Given the description of an element on the screen output the (x, y) to click on. 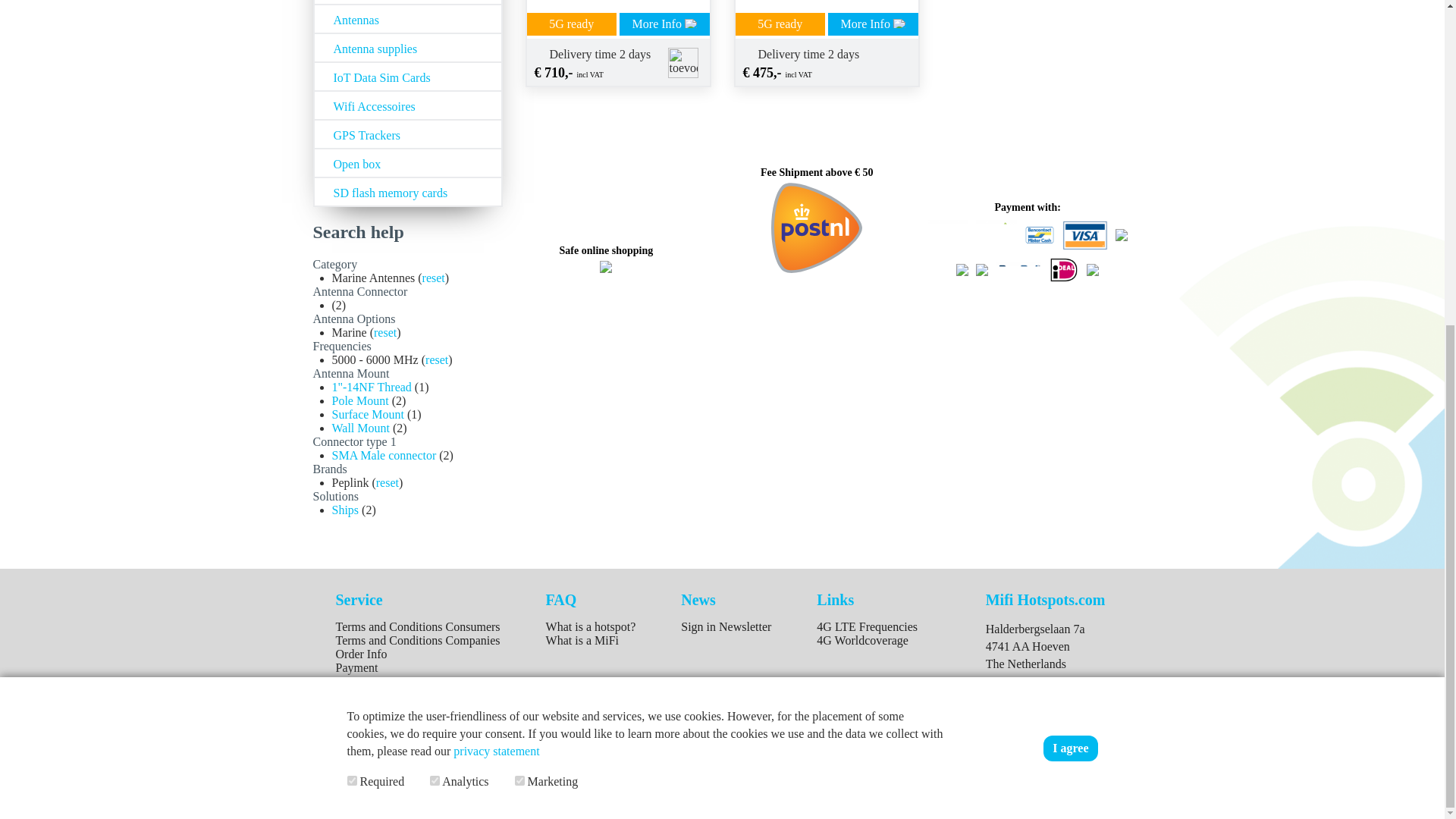
reset (436, 359)
Gateways (407, 2)
reset (433, 277)
Open box (407, 163)
GPS Trackers (407, 133)
Antenna supplies (407, 47)
IoT Data Sim Cards (407, 76)
on (519, 247)
SD flash memory cards (407, 191)
on (434, 247)
toevoegen aan winkelwagen (681, 62)
Antennas (407, 19)
Wifi Accessoires (407, 105)
on (351, 247)
reset (385, 332)
